Given the description of an element on the screen output the (x, y) to click on. 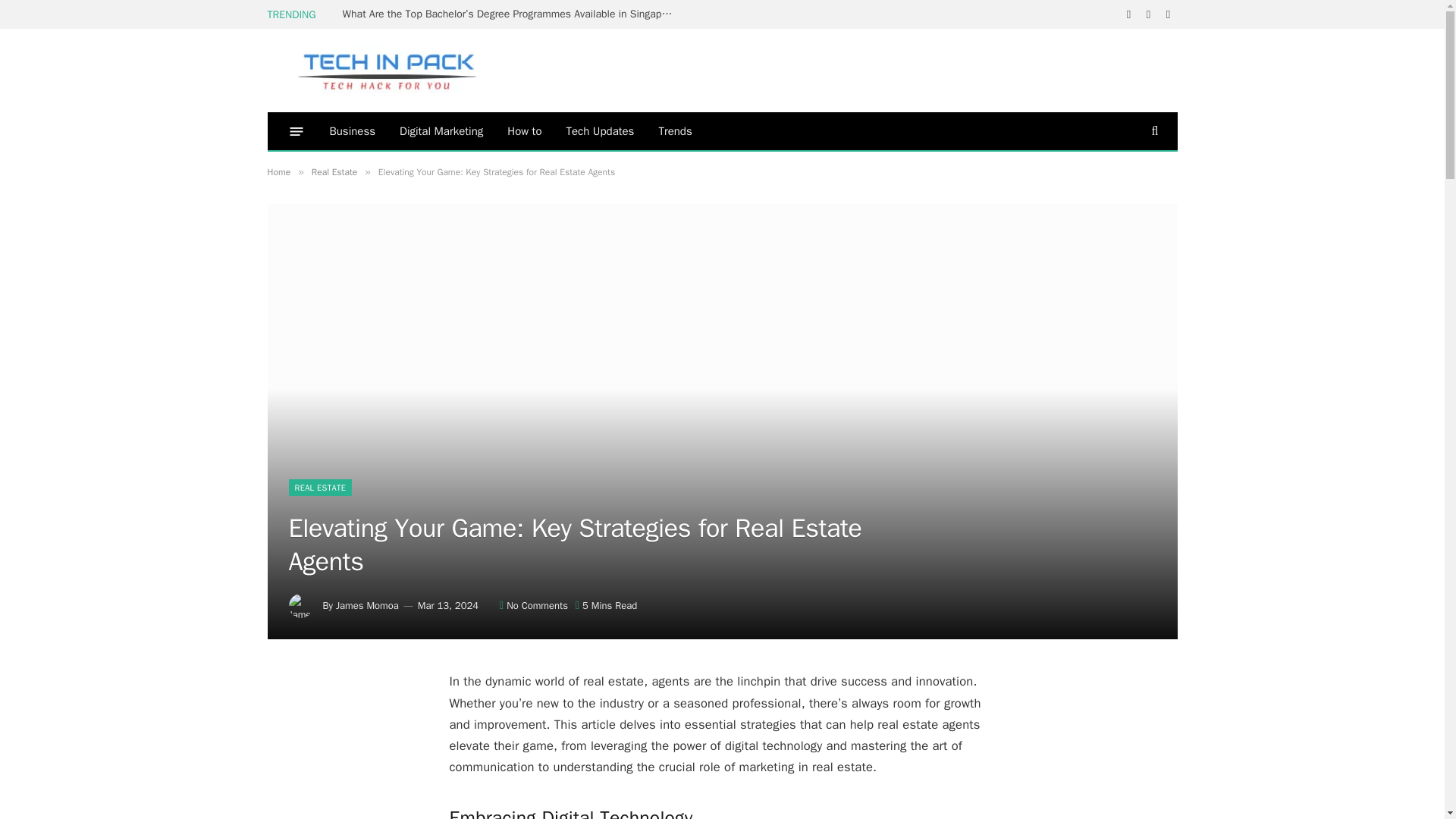
Trends (674, 130)
How to (524, 130)
Tech Updates (599, 130)
Business (352, 130)
Digital Marketing (441, 130)
Instagram (1167, 14)
Facebook (1128, 14)
Posts by James Momoa (367, 604)
Tech In Pack (376, 70)
Home (277, 172)
Real Estate (333, 172)
Search (1153, 130)
